Given the description of an element on the screen output the (x, y) to click on. 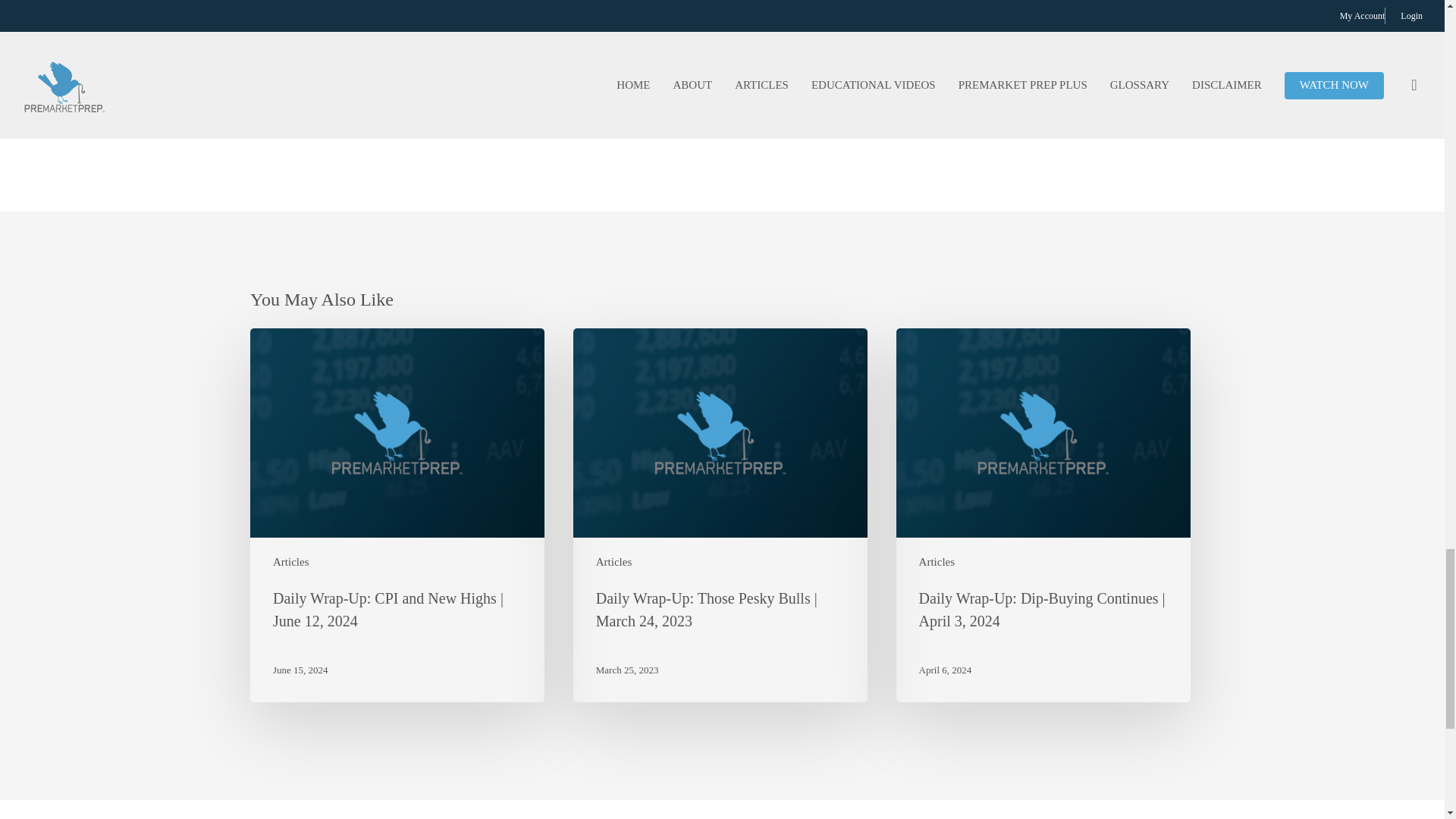
Articles (613, 561)
Articles (936, 561)
Articles (290, 561)
